Given the description of an element on the screen output the (x, y) to click on. 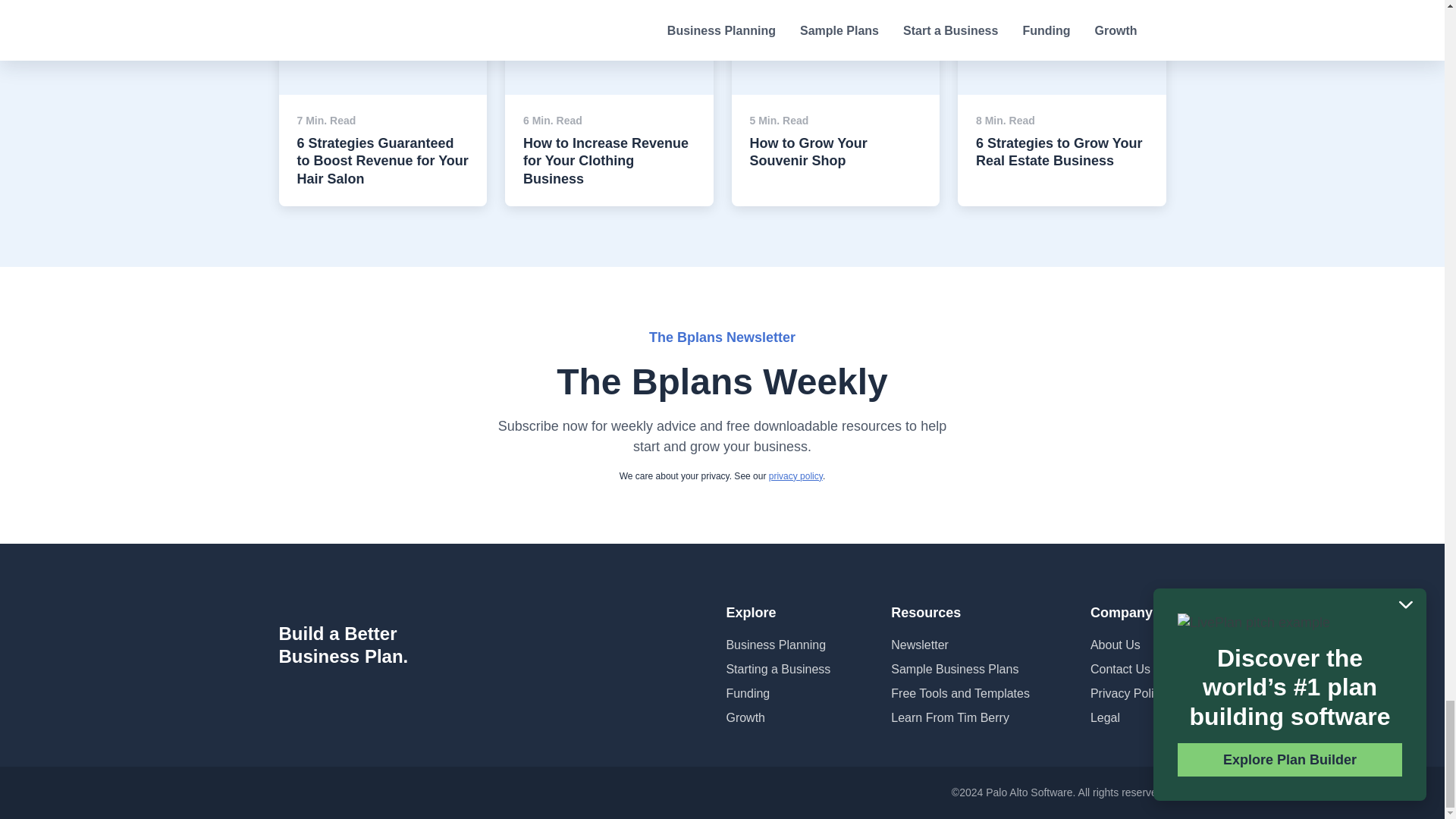
How to increase hair salon revenue (383, 22)
How to grow your souvenir shop (833, 13)
6 strategies to grow your real estate business (1062, 22)
How to increase revenue for your clothing business (609, 22)
